Given the description of an element on the screen output the (x, y) to click on. 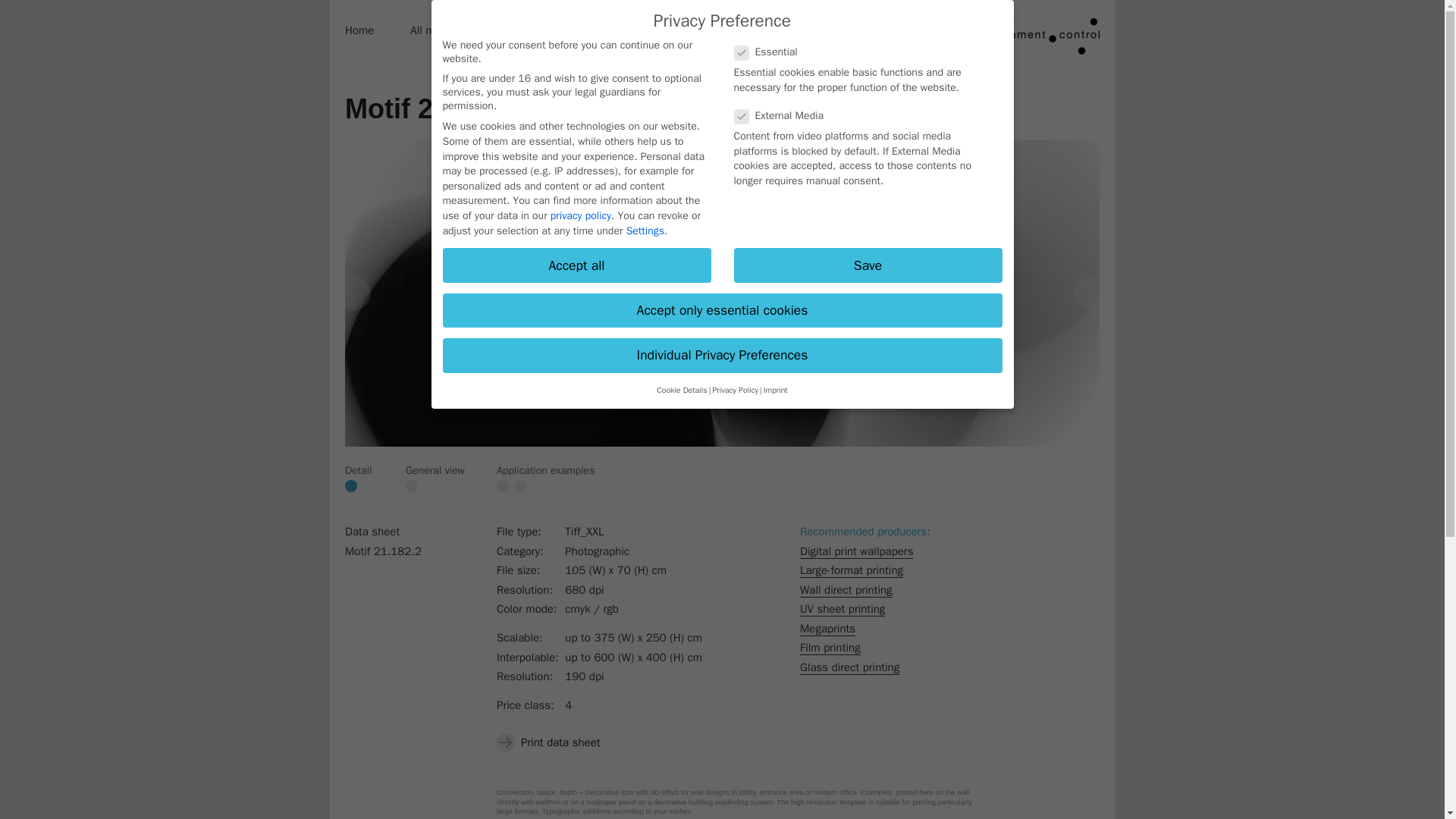
All motifs (433, 30)
Print data sheet (551, 742)
Partner production (538, 30)
Home (359, 30)
References (538, 50)
Usage and prices (664, 30)
